Given the description of an element on the screen output the (x, y) to click on. 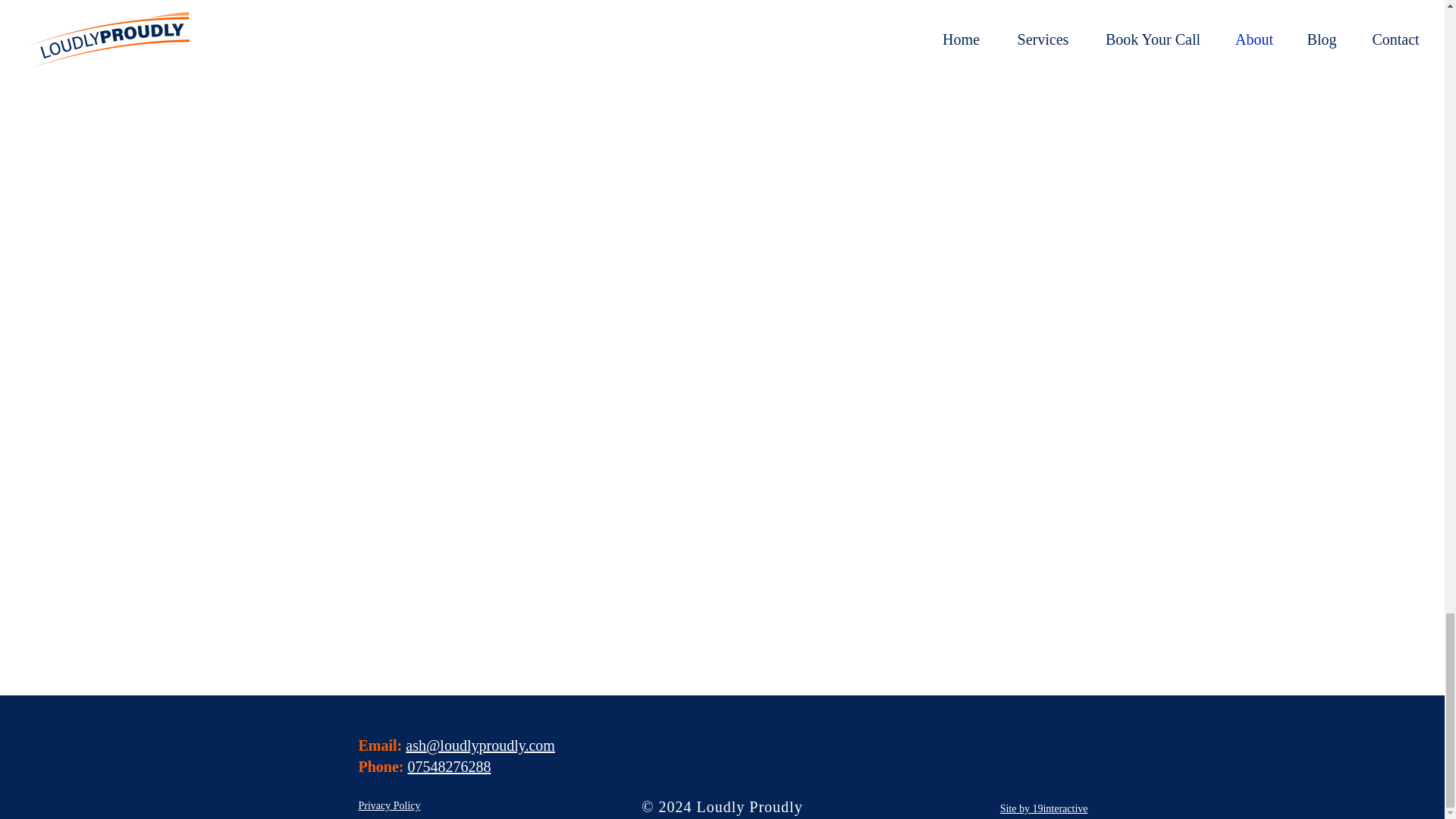
07548276288 (449, 766)
Privacy Policy (389, 805)
Site by 19interactive (1043, 808)
